Given the description of an element on the screen output the (x, y) to click on. 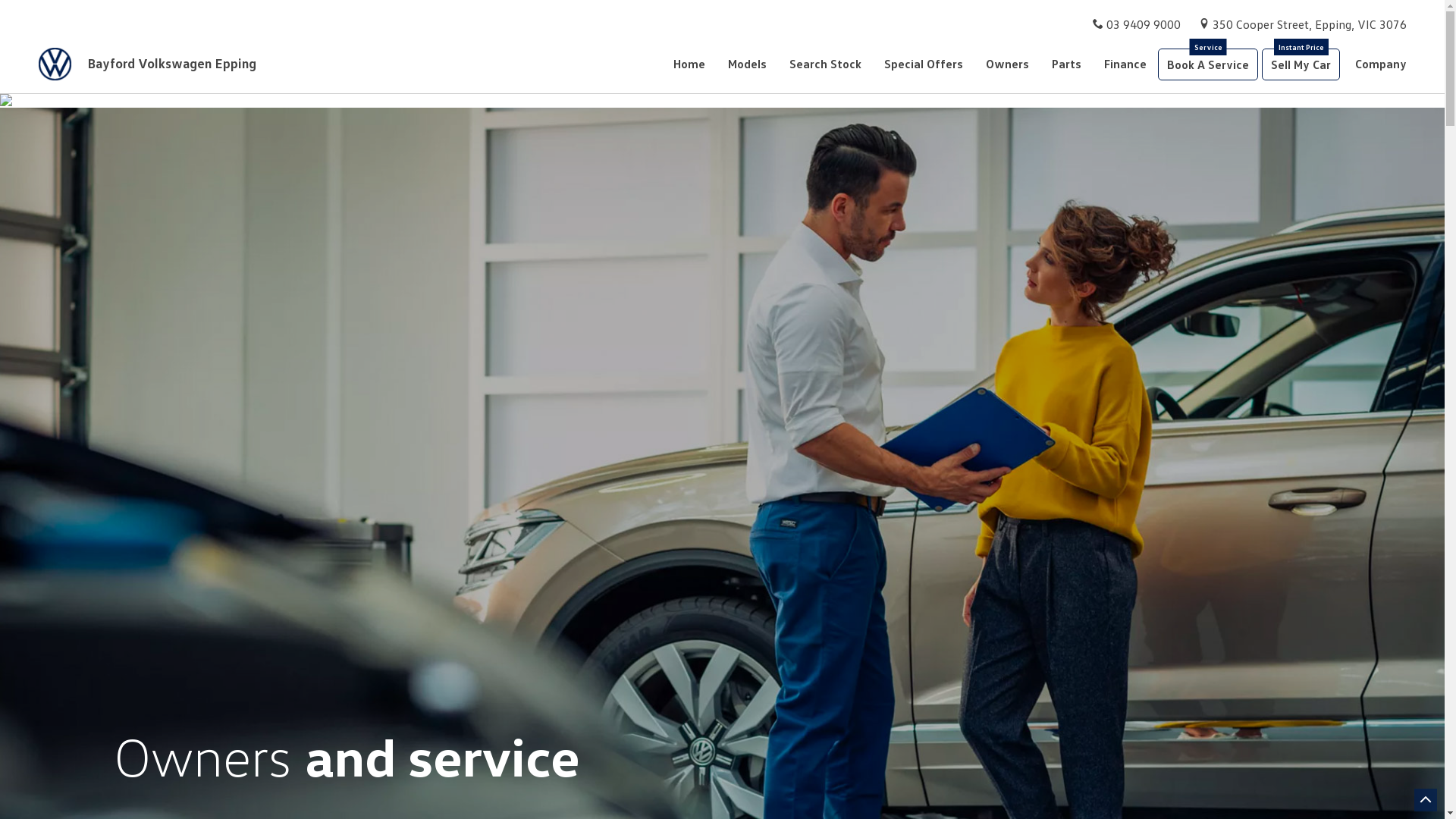
03 9409 9000 Element type: text (1143, 23)
Home Element type: text (694, 63)
Models Element type: text (747, 63)
Bayford Volkswagen Epping Element type: text (154, 64)
Book A Service Element type: text (1207, 64)
Special Offers Element type: text (923, 63)
Finance Element type: text (1124, 63)
Sell My Car Element type: text (1300, 64)
Parts Element type: text (1066, 63)
350 Cooper Street, Epping, VIC 3076 Element type: text (1309, 23)
Company Element type: text (1374, 63)
Search Stock Element type: text (825, 63)
Owners Element type: text (1007, 63)
